Given the description of an element on the screen output the (x, y) to click on. 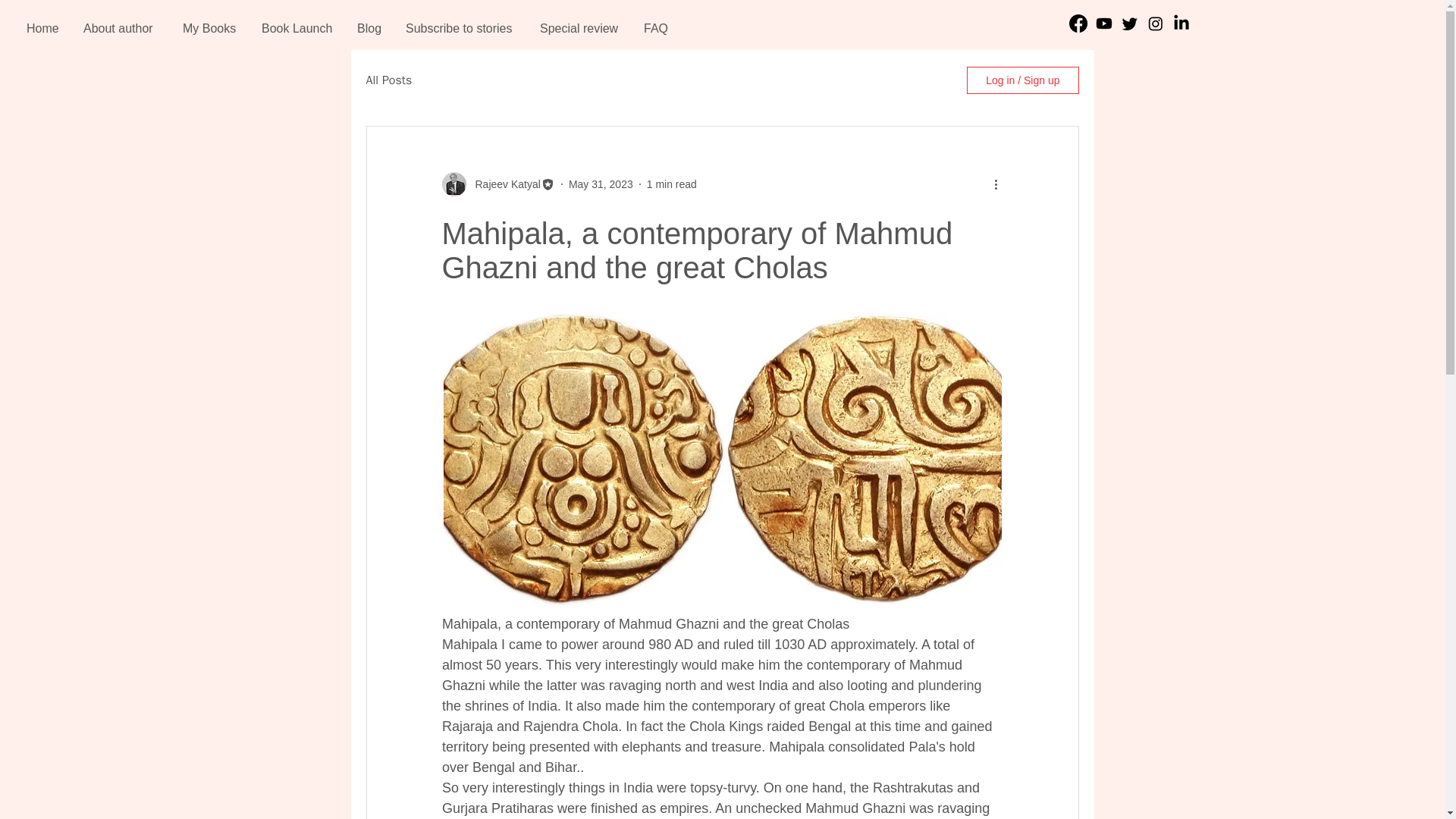
Book Launch (298, 28)
FAQ (656, 28)
All Posts (388, 80)
About author (121, 28)
May 31, 2023 (601, 183)
Rajeev Katyal (502, 183)
Blog (370, 28)
Special review (579, 28)
My Books (210, 28)
Subscribe to stories (461, 28)
1 min read (671, 183)
Home (42, 28)
